Given the description of an element on the screen output the (x, y) to click on. 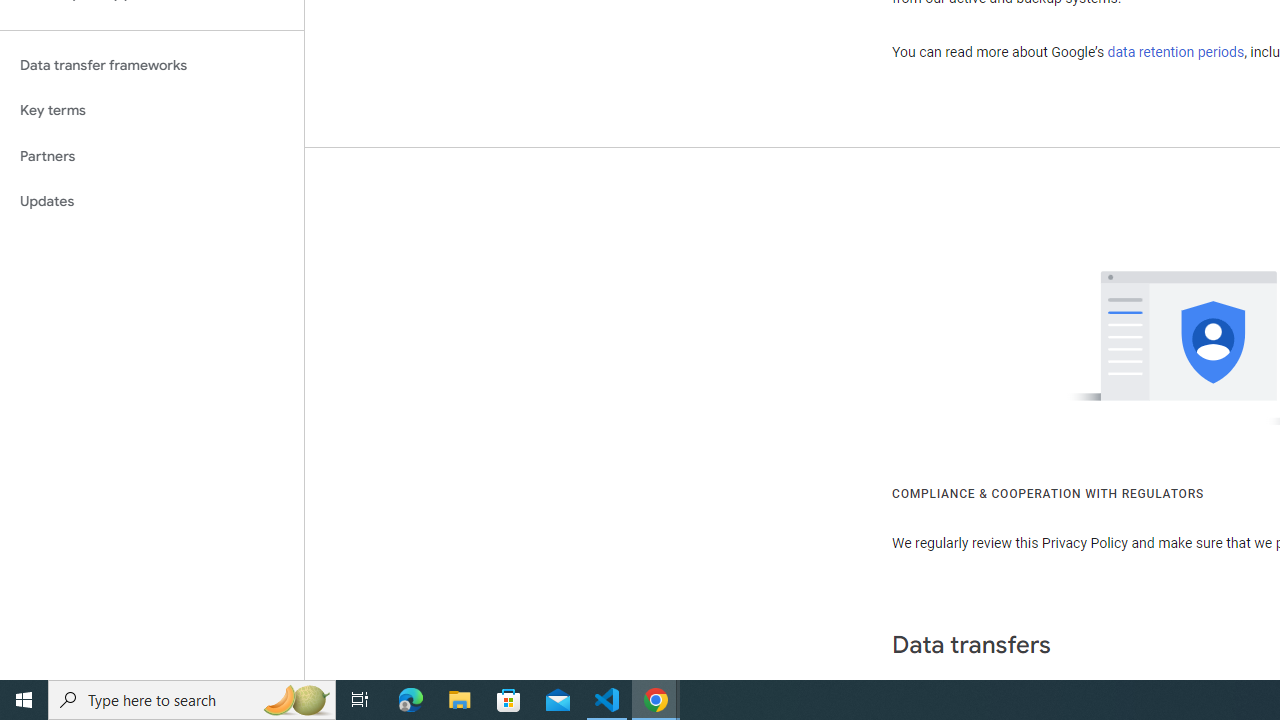
Task View (359, 699)
Microsoft Edge (411, 699)
Start (24, 699)
Google Chrome - 2 running windows (656, 699)
Visual Studio Code - 1 running window (607, 699)
data retention periods (1176, 52)
Type here to search (191, 699)
Microsoft Store (509, 699)
File Explorer (460, 699)
